Given the description of an element on the screen output the (x, y) to click on. 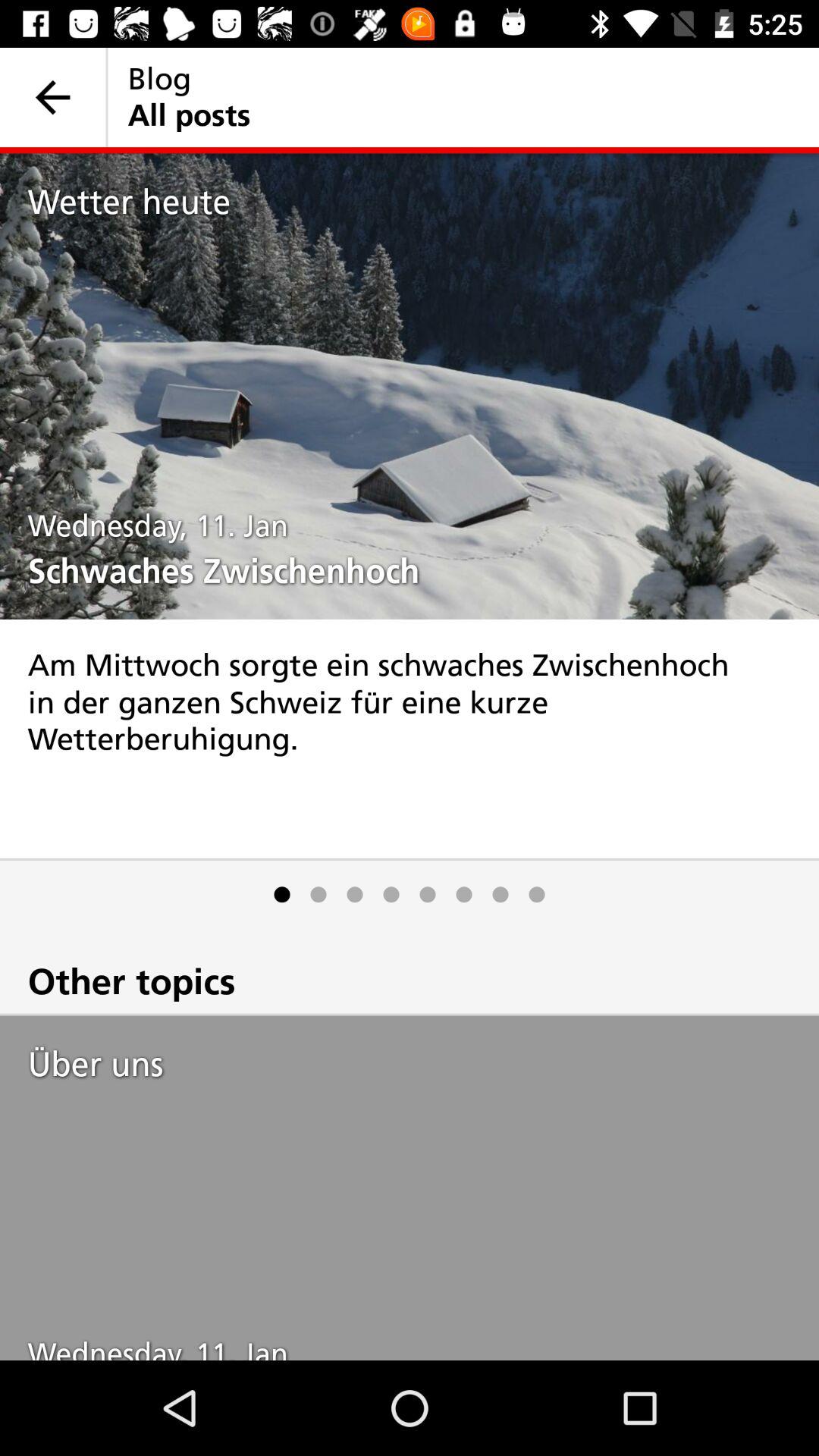
tap item above other topics icon (282, 894)
